Given the description of an element on the screen output the (x, y) to click on. 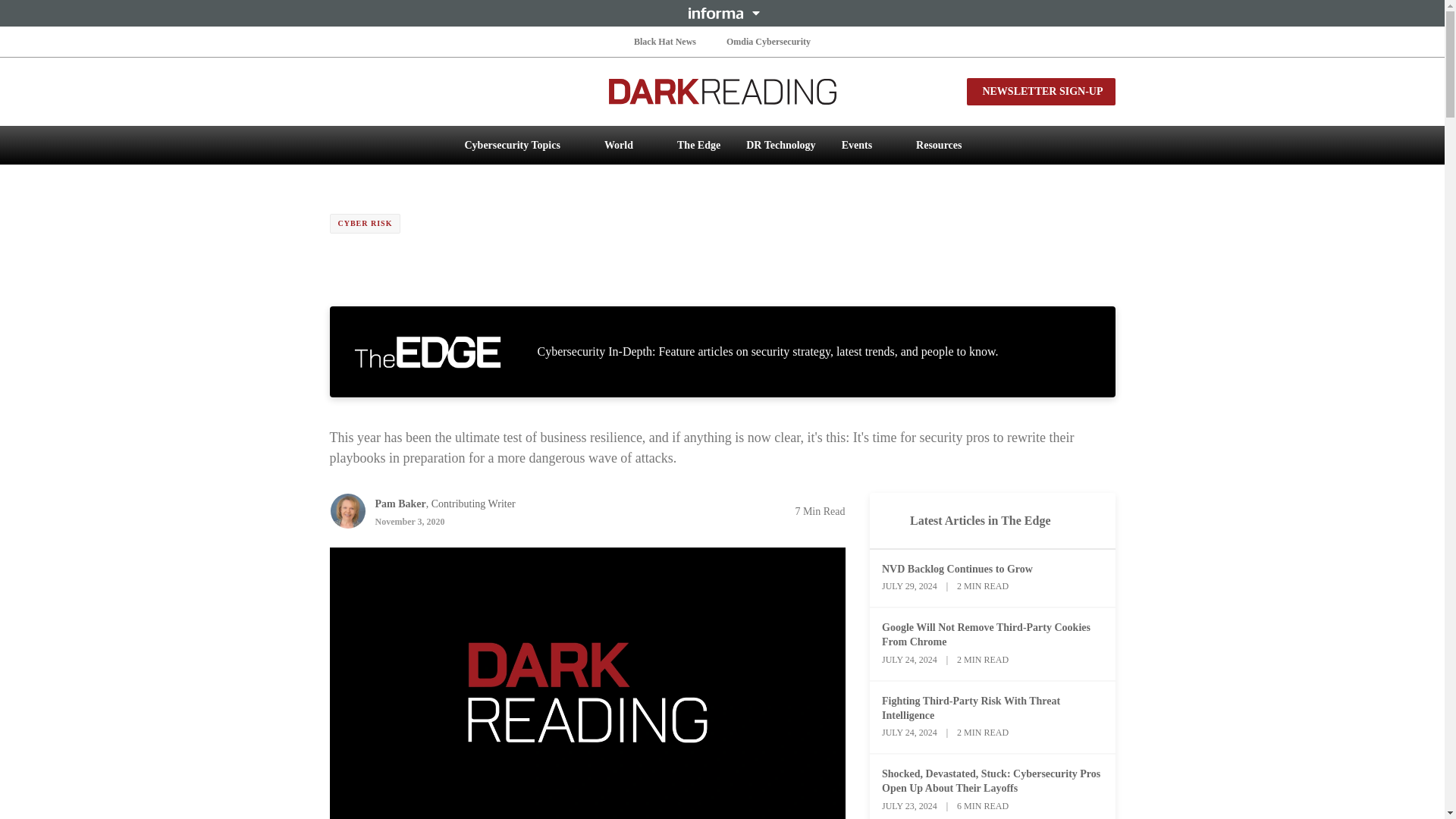
Dark Reading Logo (721, 91)
NEWSLETTER SIGN-UP (1040, 90)
Black Hat News (664, 41)
Picture of Pam Baker (347, 511)
The Edge Logo (426, 351)
Omdia Cybersecurity (768, 41)
